Given the description of an element on the screen output the (x, y) to click on. 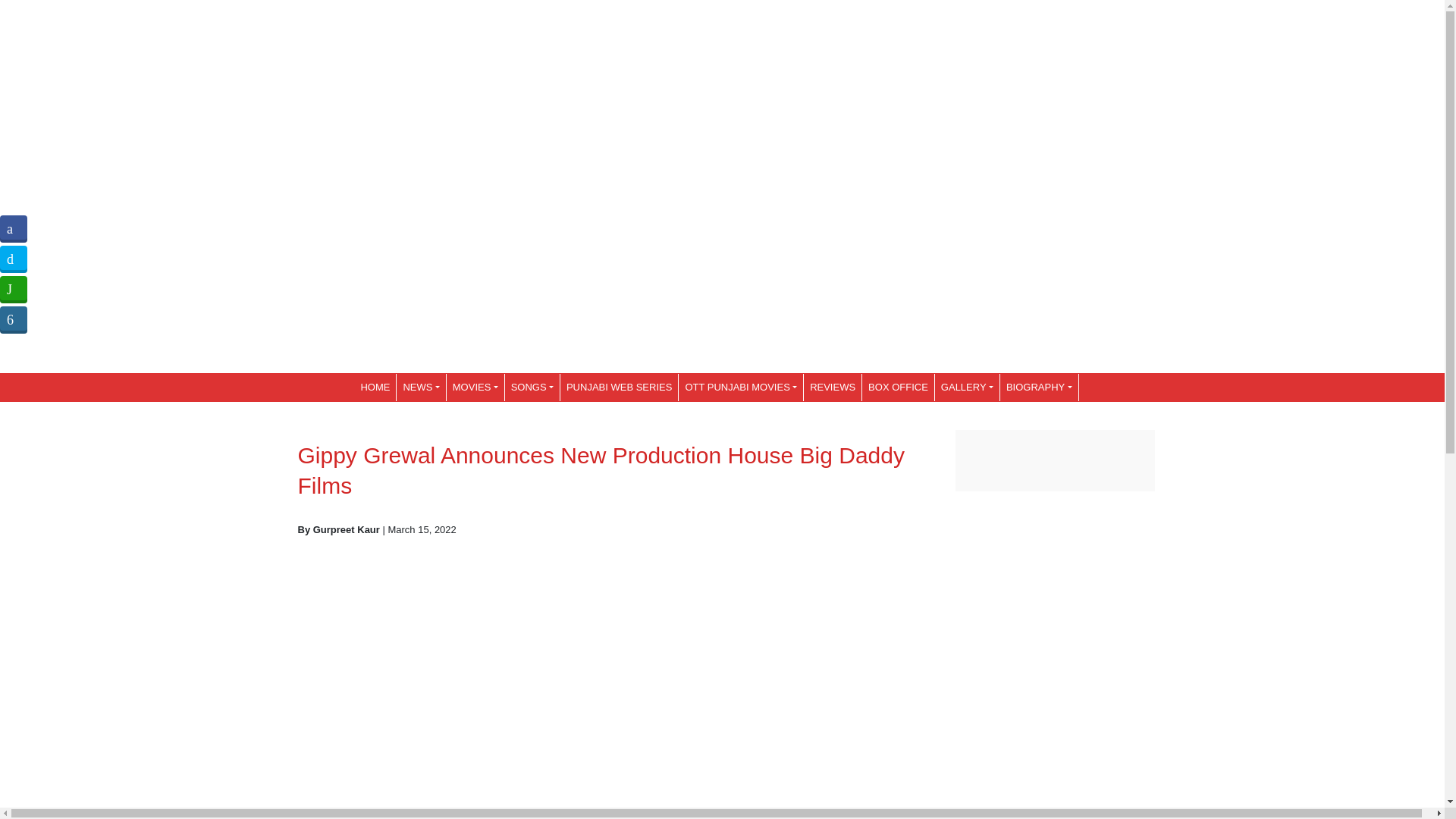
PUNJABI WEB SERIES (619, 387)
BOX OFFICE (897, 387)
HOME (374, 387)
OTT PUNJABI MOVIES (740, 387)
REVIEWS (832, 387)
GALLERY (966, 387)
NEWS (420, 387)
SONGS (532, 387)
MOVIES (474, 387)
BIOGRAPHY (1039, 387)
